Given the description of an element on the screen output the (x, y) to click on. 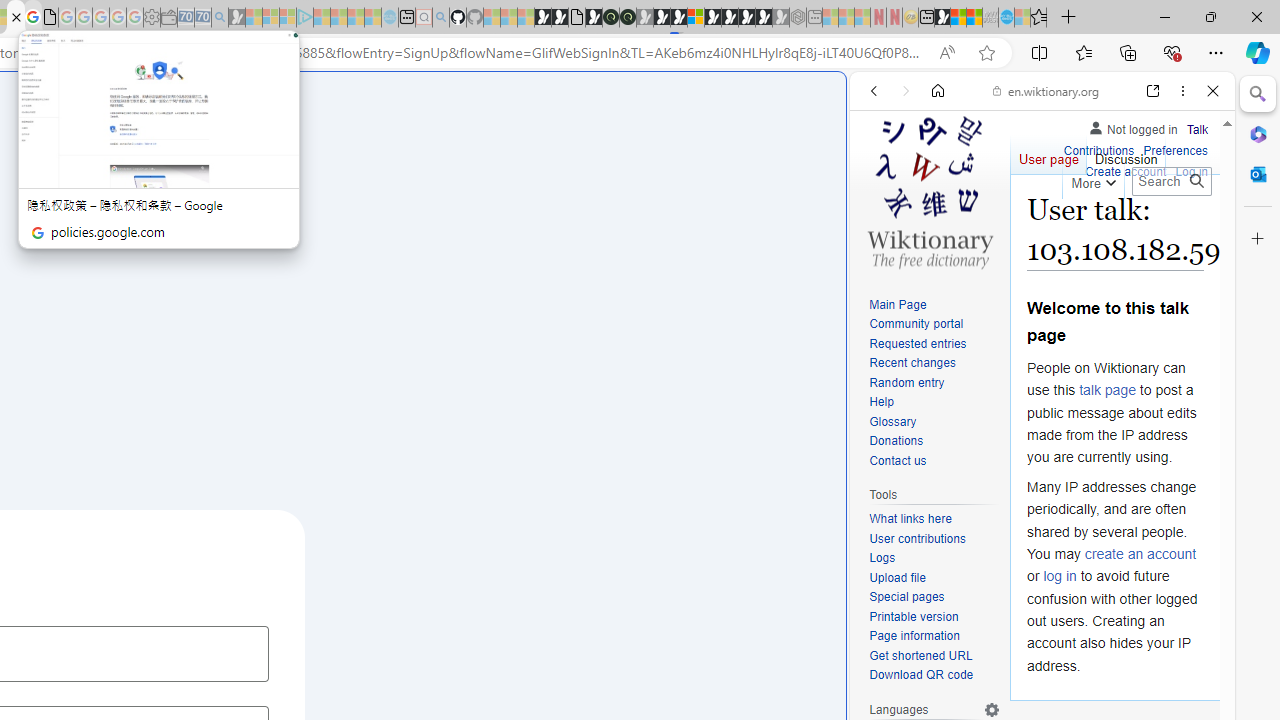
Get shortened URL (920, 655)
Page information (914, 636)
Discussion (1125, 154)
Settings - Sleeping (151, 17)
